Given the description of an element on the screen output the (x, y) to click on. 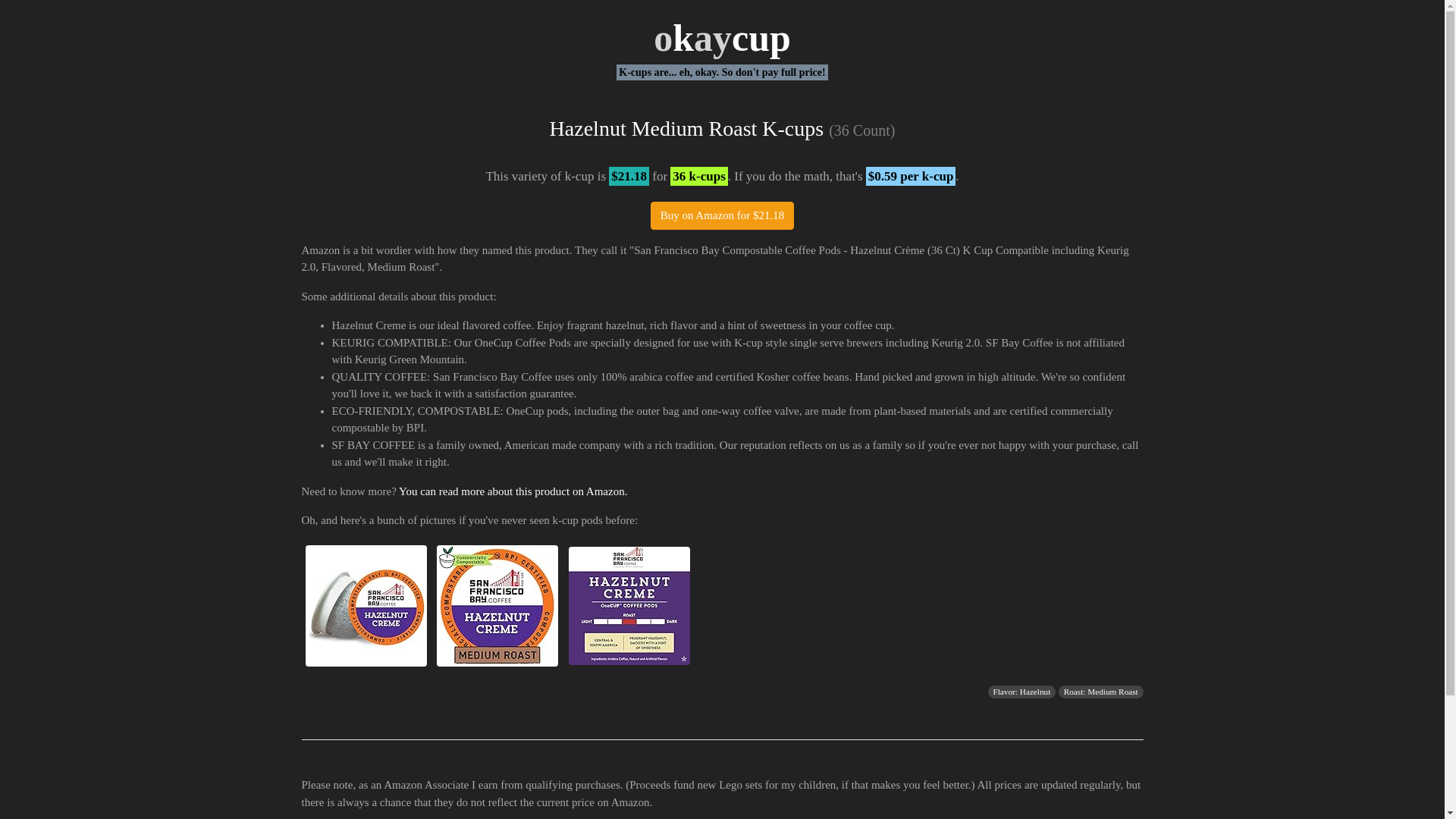
okaycup (721, 37)
You can read more about this product on Amazon. (512, 491)
Roast: Medium Roast (1101, 691)
Flavor: Hazelnut (1020, 691)
